Given the description of an element on the screen output the (x, y) to click on. 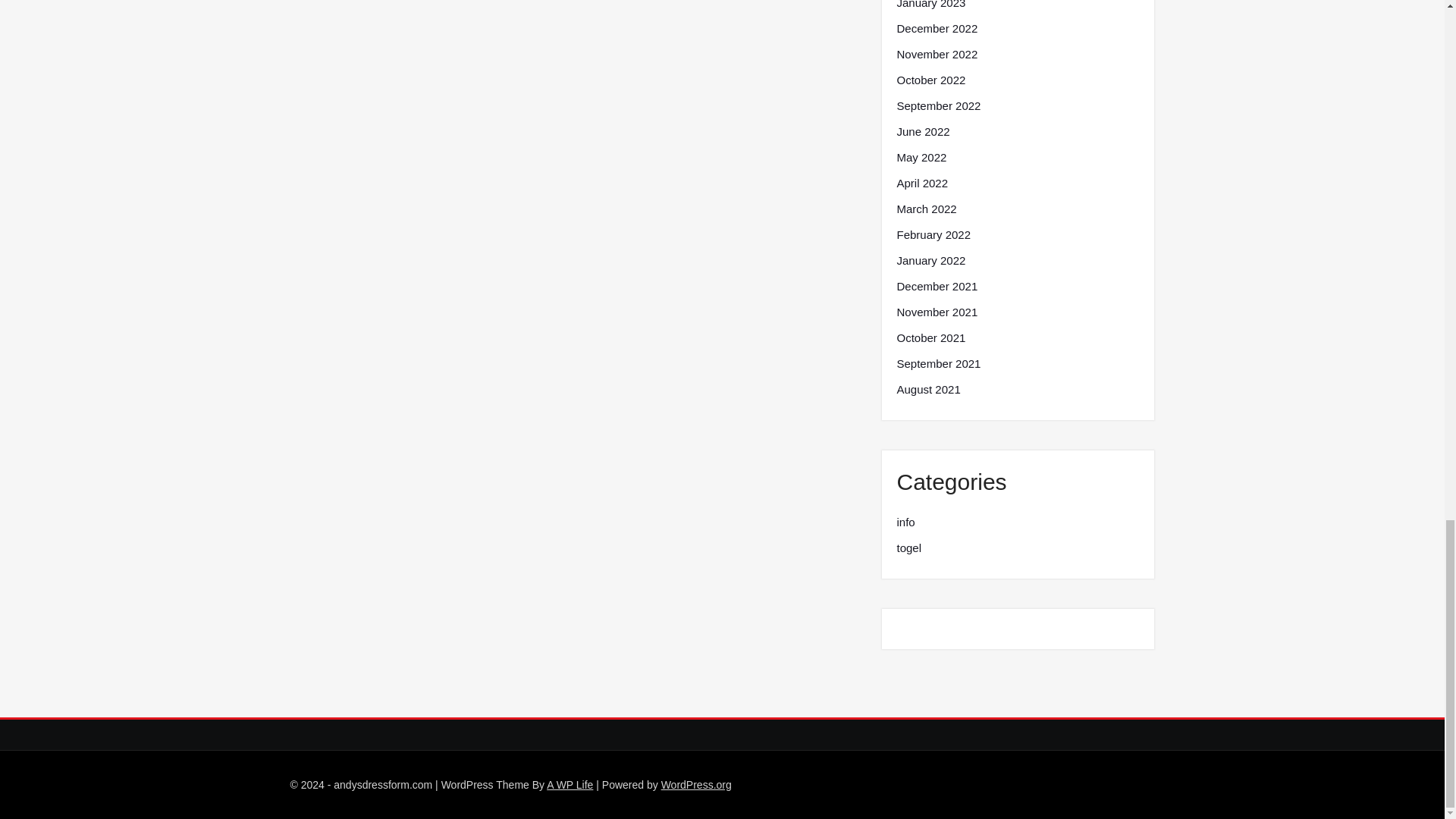
January 2023 (930, 6)
December 2022 (936, 28)
October 2022 (930, 80)
November 2022 (936, 54)
September 2022 (937, 106)
